Given the description of an element on the screen output the (x, y) to click on. 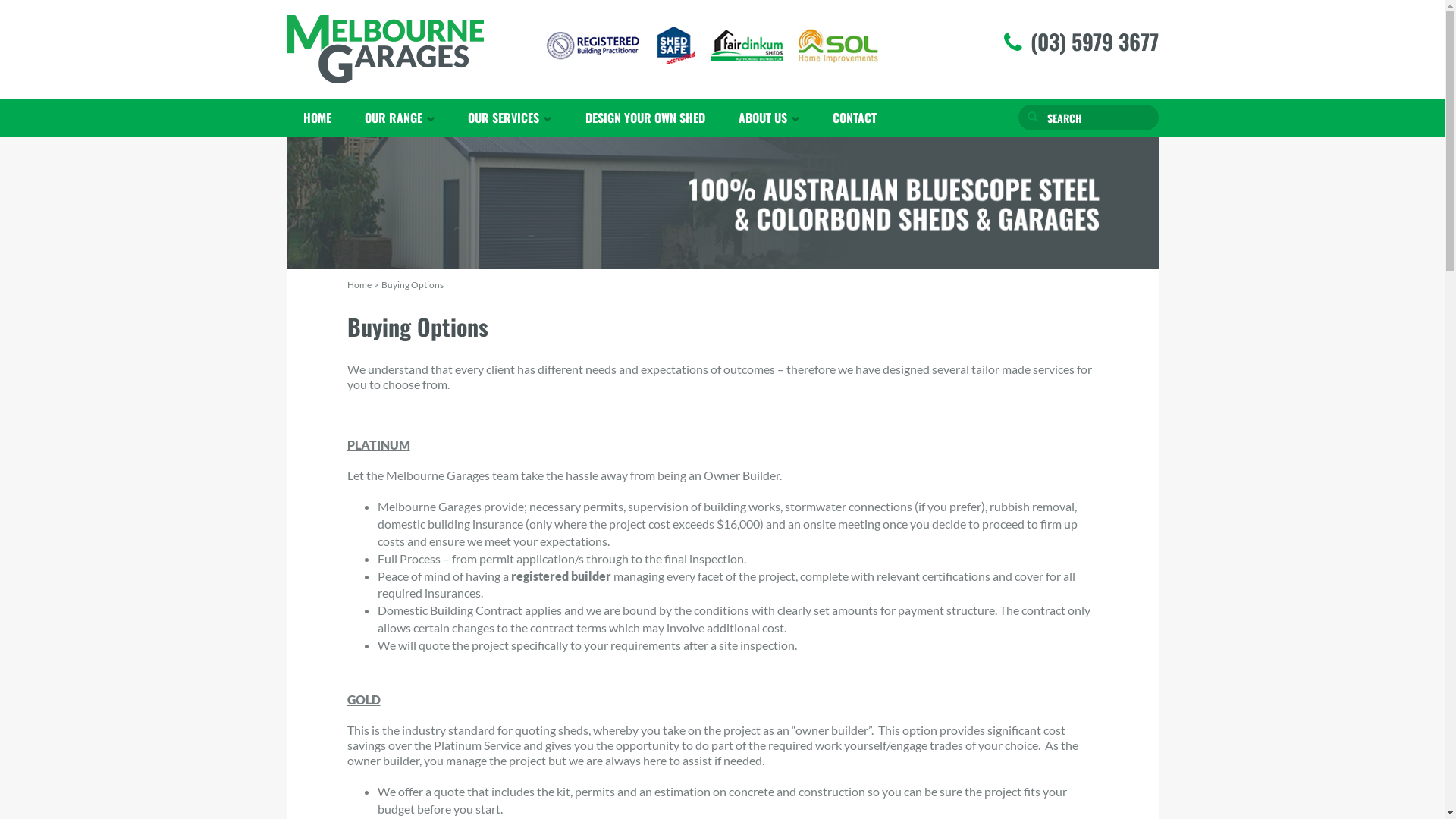
DESIGN YOUR OWN SHED Element type: text (644, 117)
CONTACT Element type: text (854, 117)
ABOUT US Element type: text (768, 117)
Home Element type: text (359, 284)
OUR SERVICES Element type: text (509, 117)
Buying Options Element type: text (411, 284)
Search Element type: text (1031, 117)
(03) 5979 3677 Element type: text (1093, 42)
OUR RANGE Element type: text (399, 117)
HOME Element type: text (317, 117)
